Given the description of an element on the screen output the (x, y) to click on. 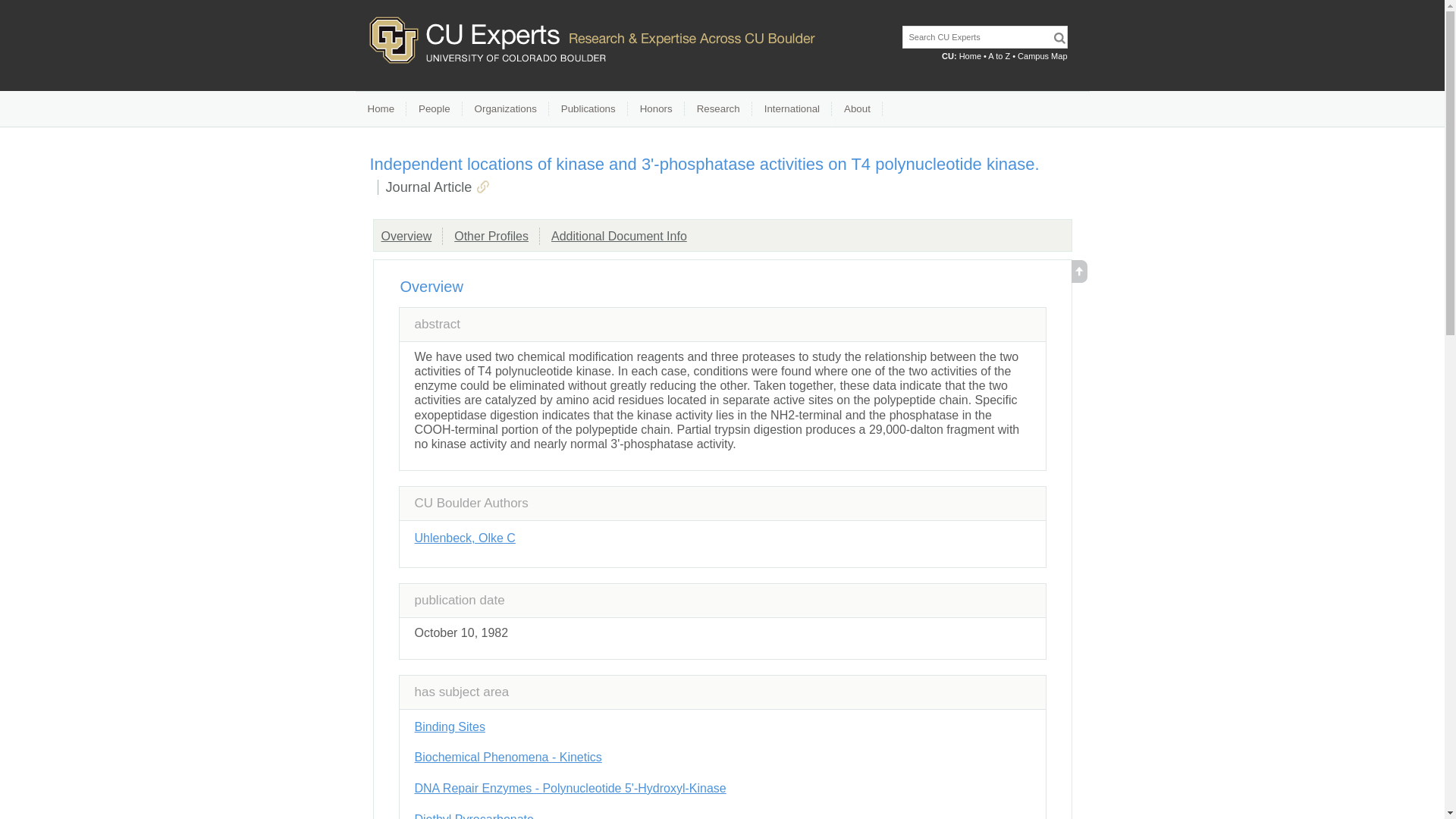
group name (491, 236)
About (856, 108)
Research (718, 108)
Uhlenbeck, Olke C (464, 537)
Search (1059, 37)
Biochemical Phenomena - Kinetics (507, 757)
menu item (505, 108)
Diethyl Pyrocarbonate (472, 816)
author name (464, 537)
menu item (655, 108)
concept name (448, 726)
Overview (405, 236)
Binding Sites (448, 726)
Publications (587, 108)
Additional Document Info (619, 236)
